Given the description of an element on the screen output the (x, y) to click on. 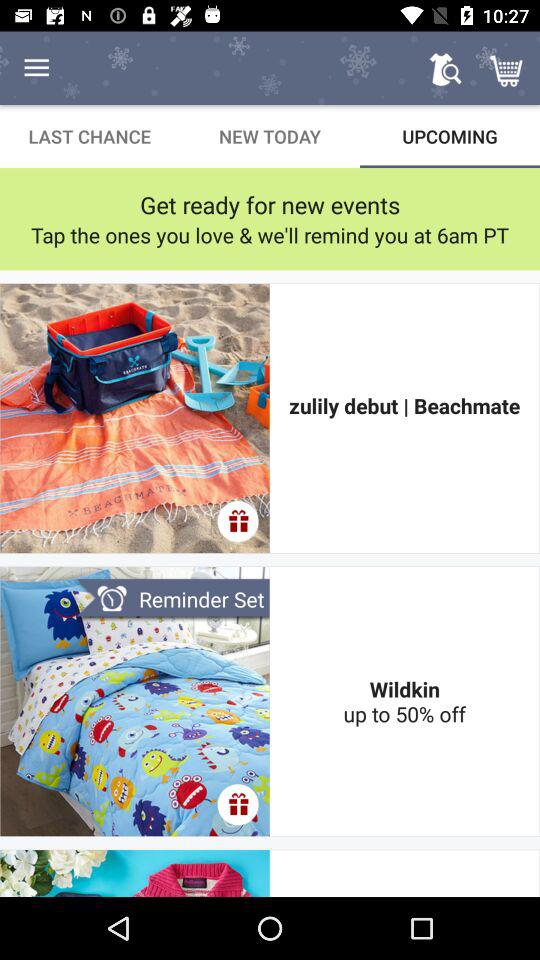
flip to get ready for item (270, 204)
